Given the description of an element on the screen output the (x, y) to click on. 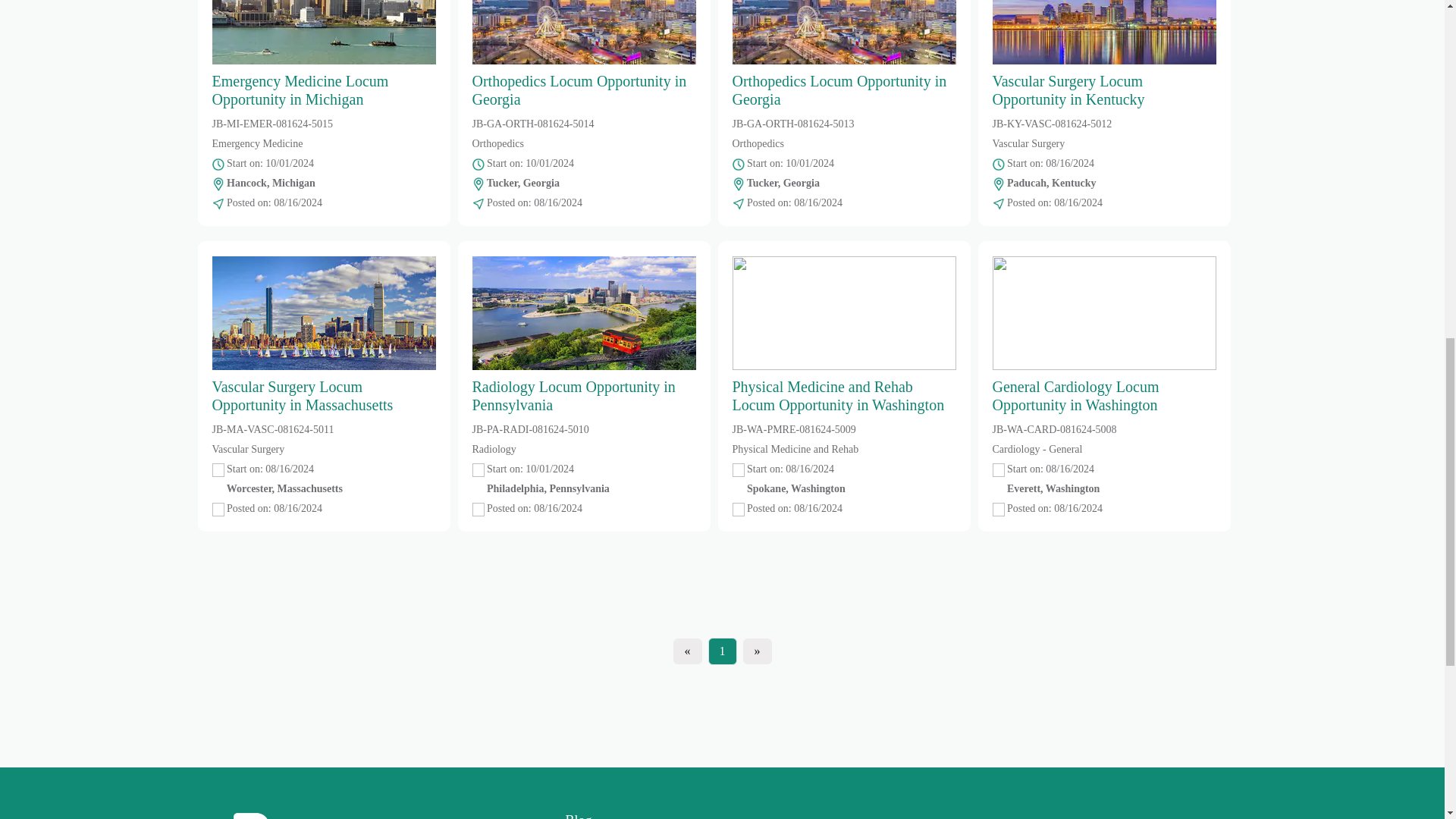
Physical Medicine and Rehab Locum Opportunity in Washington (844, 335)
Vascular Surgery Locum Opportunity in Massachusetts (323, 335)
Emergency Medicine Locum Opportunity in Michigan (323, 54)
Vascular Surgery Locum Opportunity in Kentucky (1103, 54)
Orthopedics Locum Opportunity in Georgia (583, 54)
General Cardiology Locum Opportunity in Washington (1103, 335)
Orthopedics Locum Opportunity in Georgia (844, 54)
Next page (756, 651)
Radiology Locum Opportunity in Pennsylvania (583, 335)
